Given the description of an element on the screen output the (x, y) to click on. 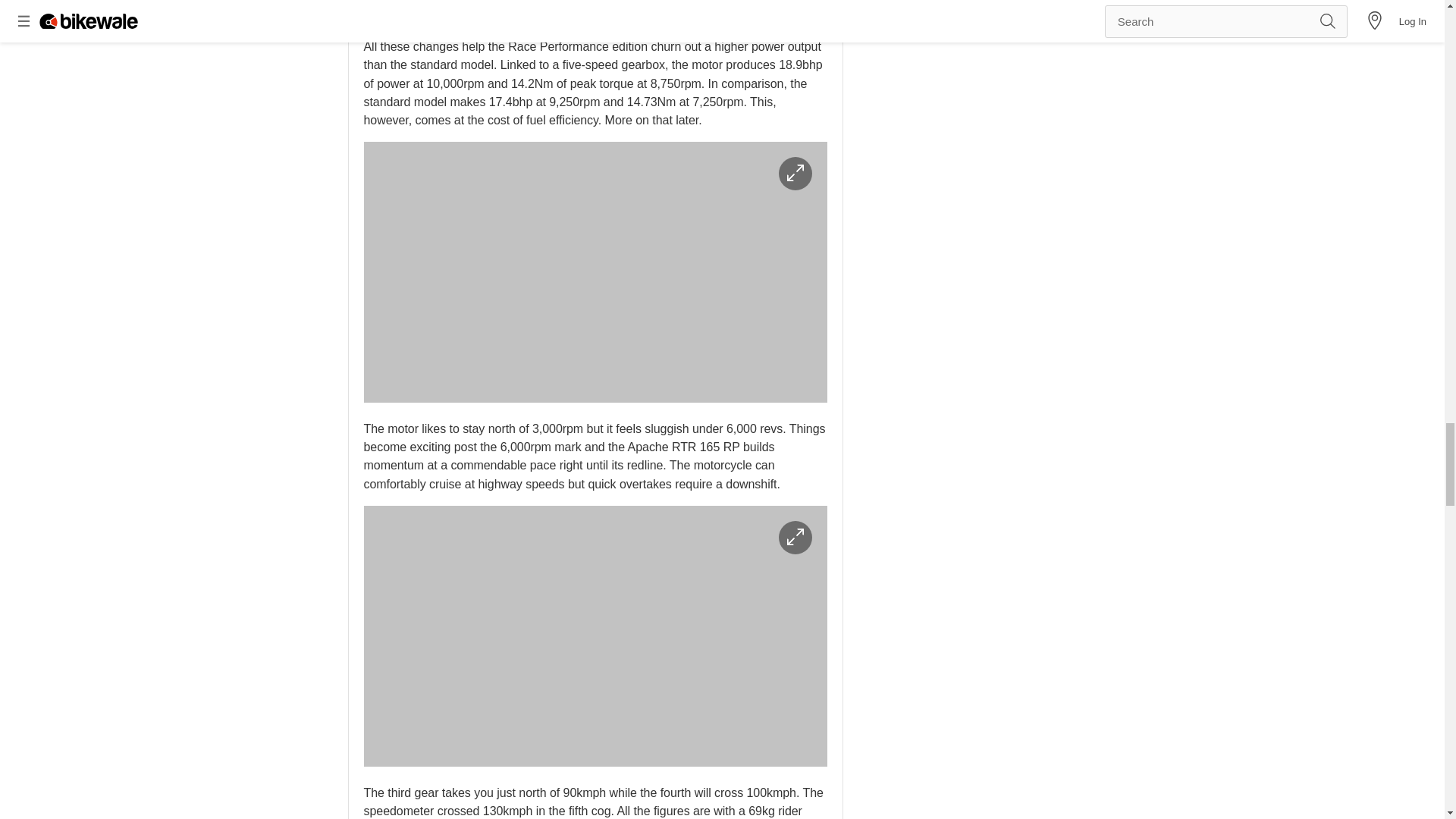
TVS Apache RTR 165RP Left Rear Three Quarter (595, 271)
TVS Apache RTR 165RP Engine From Left (595, 10)
TVS Apache RTR 165RP Instrument Cluster (595, 636)
